Given the description of an element on the screen output the (x, y) to click on. 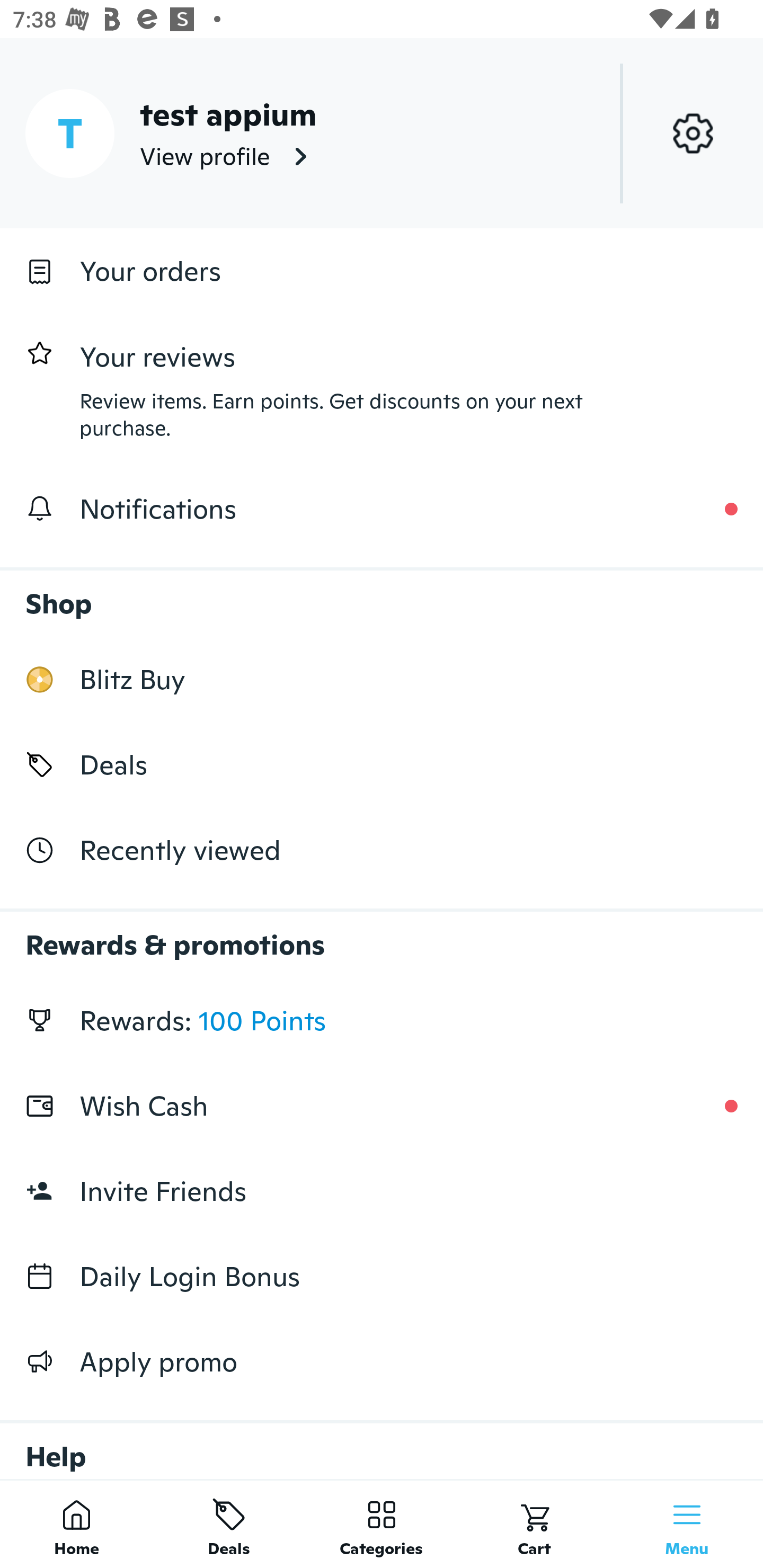
T test appium View profile (381, 132)
Your orders (381, 270)
Notifications (381, 508)
Shop (381, 593)
Blitz Buy (381, 679)
Deals (381, 764)
Recently viewed (381, 850)
Rewards & promotions (381, 935)
Rewards: 100 Points (381, 1020)
Wish Cash (381, 1106)
Invite Friends (381, 1190)
Daily Login Bonus (381, 1277)
Apply promo (381, 1361)
Help (381, 1441)
Home (76, 1523)
Deals (228, 1523)
Categories (381, 1523)
Cart (533, 1523)
Menu (686, 1523)
